Given the description of an element on the screen output the (x, y) to click on. 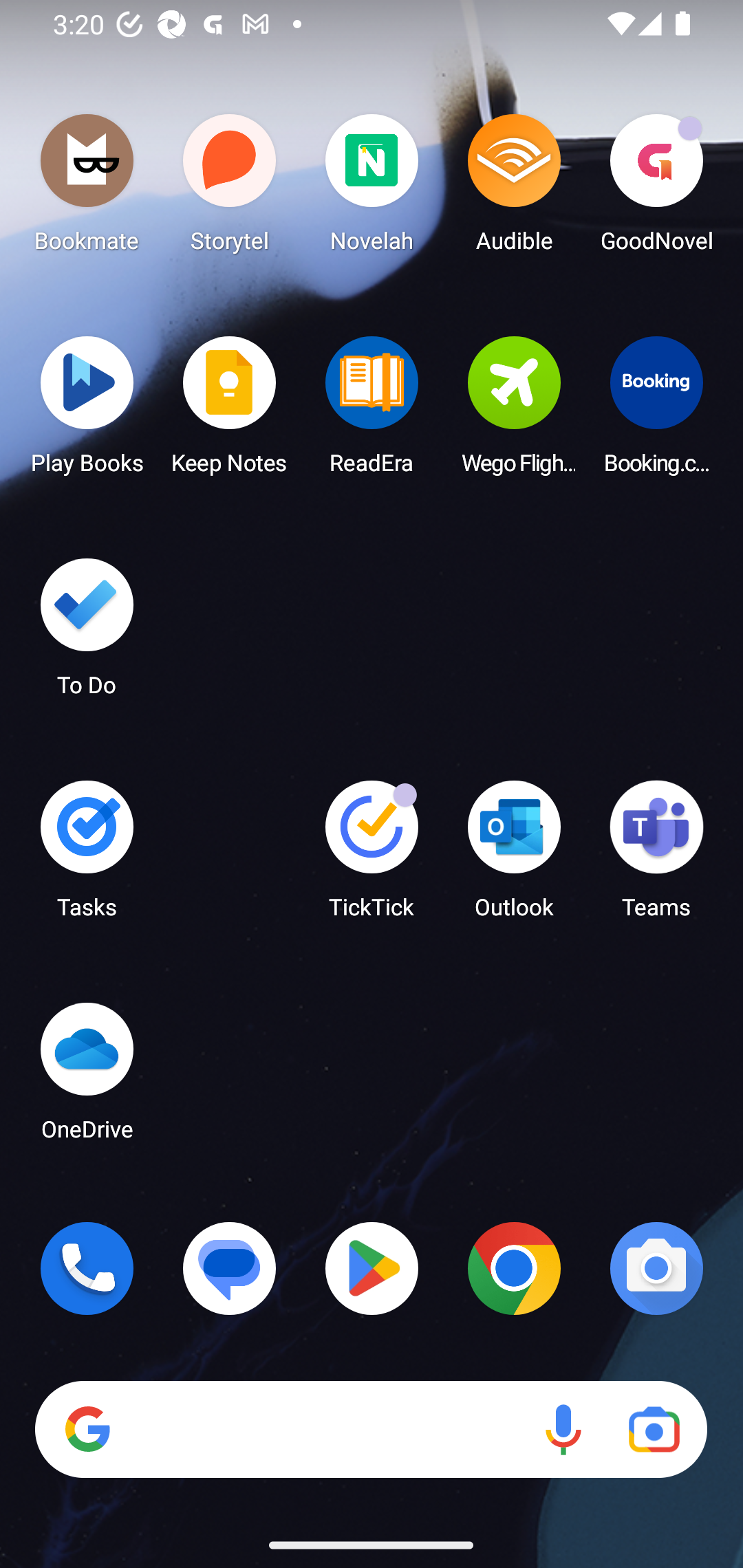
Bookmate (86, 188)
Storytel (229, 188)
Novelah (371, 188)
Audible (513, 188)
GoodNovel GoodNovel has 1 notification (656, 188)
Play Books (86, 410)
Keep Notes (229, 410)
ReadEra (371, 410)
Wego Flights & Hotels (513, 410)
Booking.com (656, 410)
To Do (86, 633)
Tasks (86, 854)
TickTick TickTick has 3 notifications (371, 854)
Outlook (513, 854)
Teams (656, 854)
OneDrive (86, 1076)
Phone (86, 1268)
Messages (229, 1268)
Play Store (371, 1268)
Chrome (513, 1268)
Camera (656, 1268)
Search Voice search Google Lens (370, 1429)
Voice search (562, 1429)
Google Lens (653, 1429)
